Given the description of an element on the screen output the (x, y) to click on. 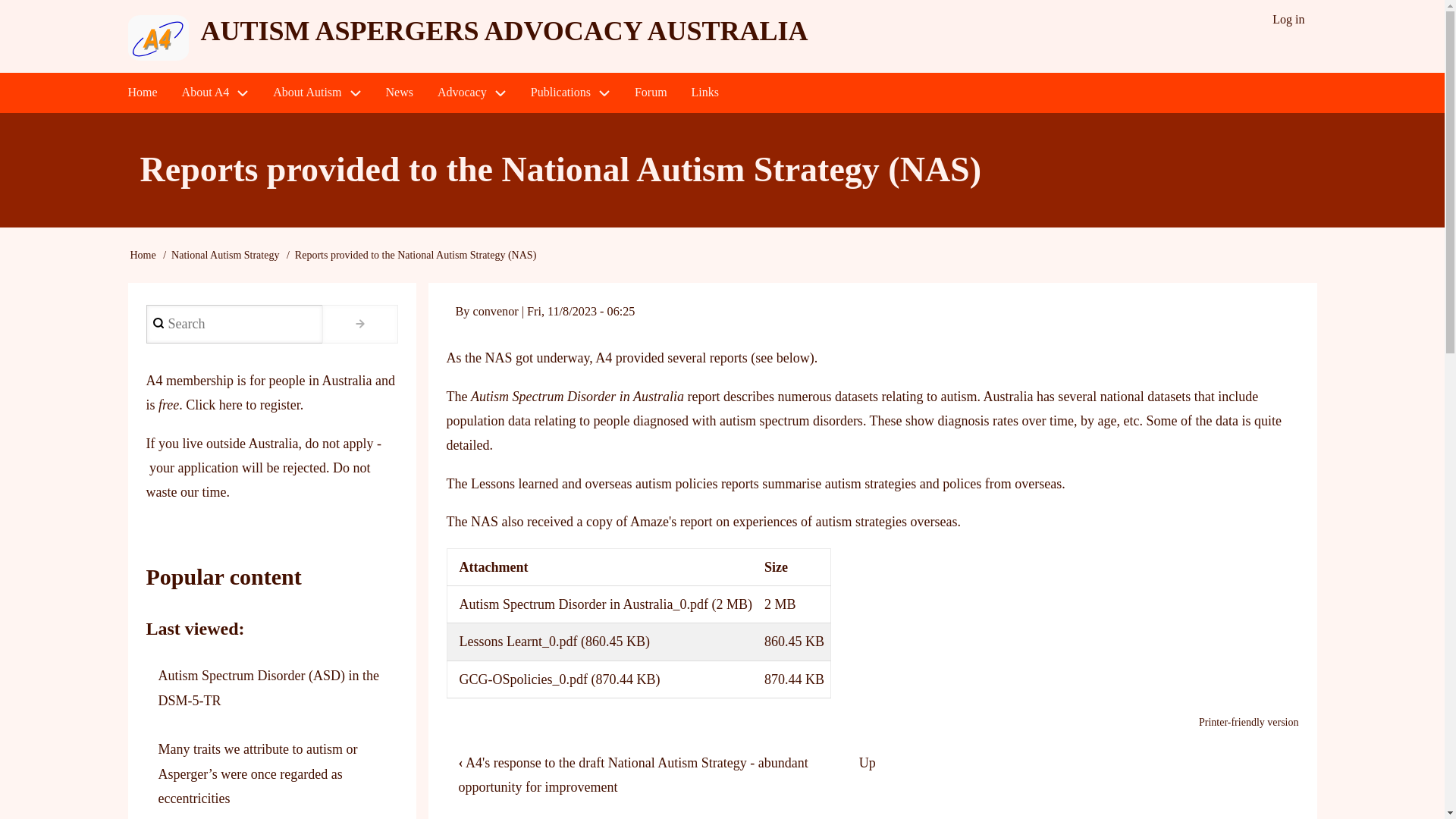
Links (704, 92)
Enter the terms you wish to search for. (233, 323)
Friday, August 11, 2023 - 06:25 (580, 311)
Forum (651, 92)
. (359, 323)
Home (141, 92)
About A4 (216, 92)
About Autism (316, 92)
AUTISM ASPERGERS ADVOCACY AUSTRALIA (504, 30)
National Autism Strategy (225, 255)
